Given the description of an element on the screen output the (x, y) to click on. 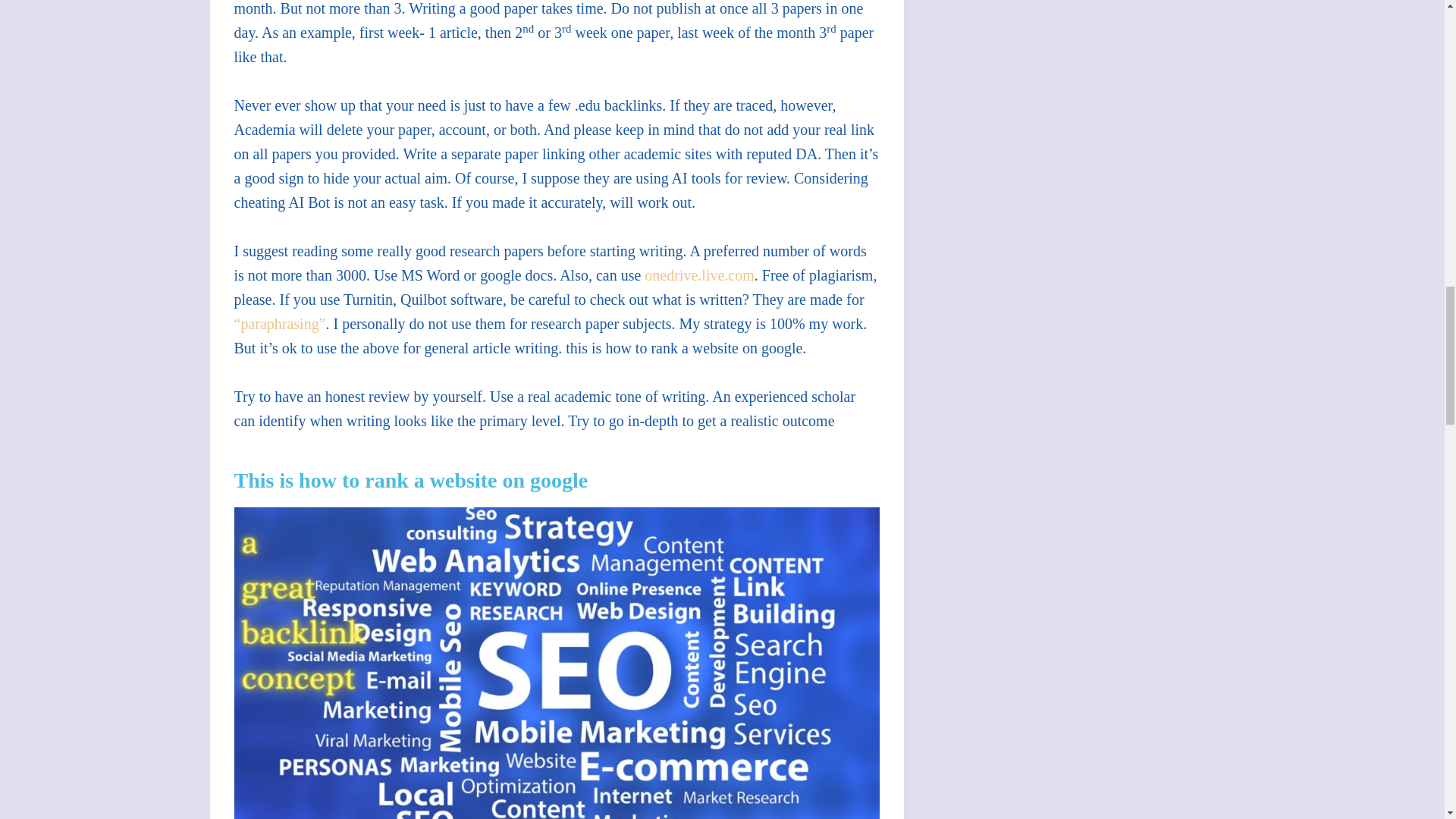
onedrive.live.com (699, 274)
